Given the description of an element on the screen output the (x, y) to click on. 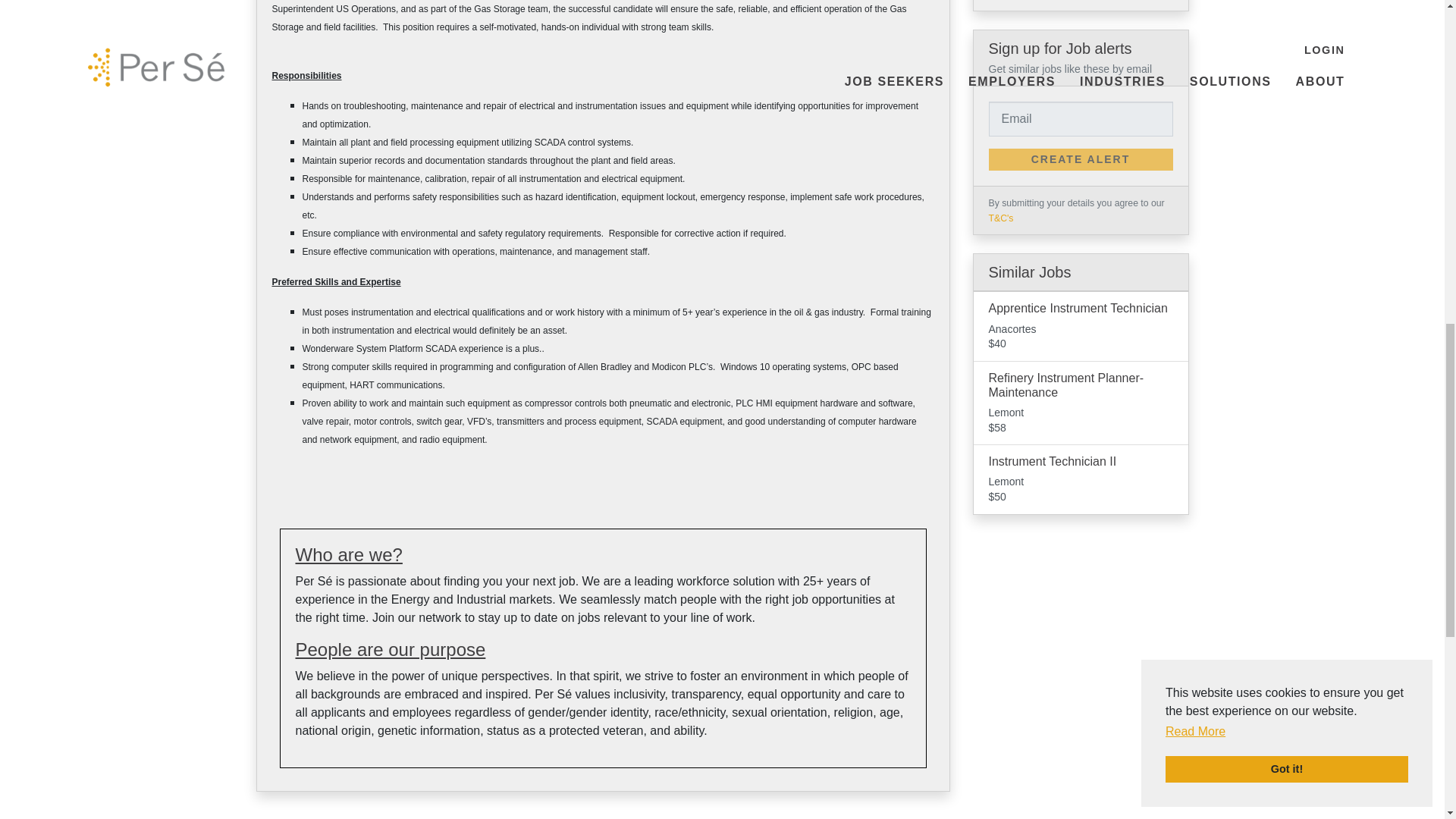
CREATE ALERT (1080, 159)
